Given the description of an element on the screen output the (x, y) to click on. 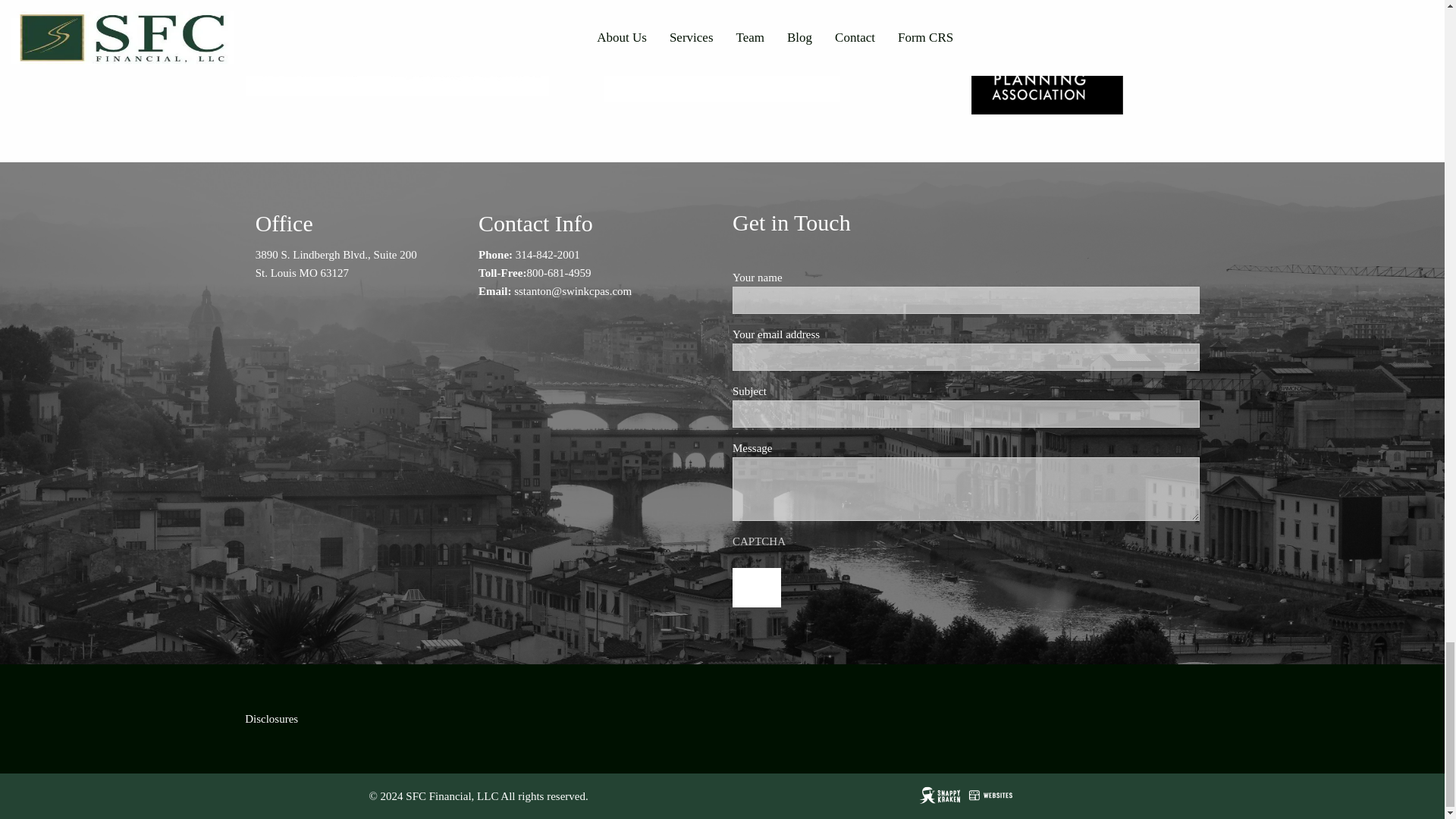
Send (756, 587)
Send (756, 587)
Disclosures (271, 718)
